Given the description of an element on the screen output the (x, y) to click on. 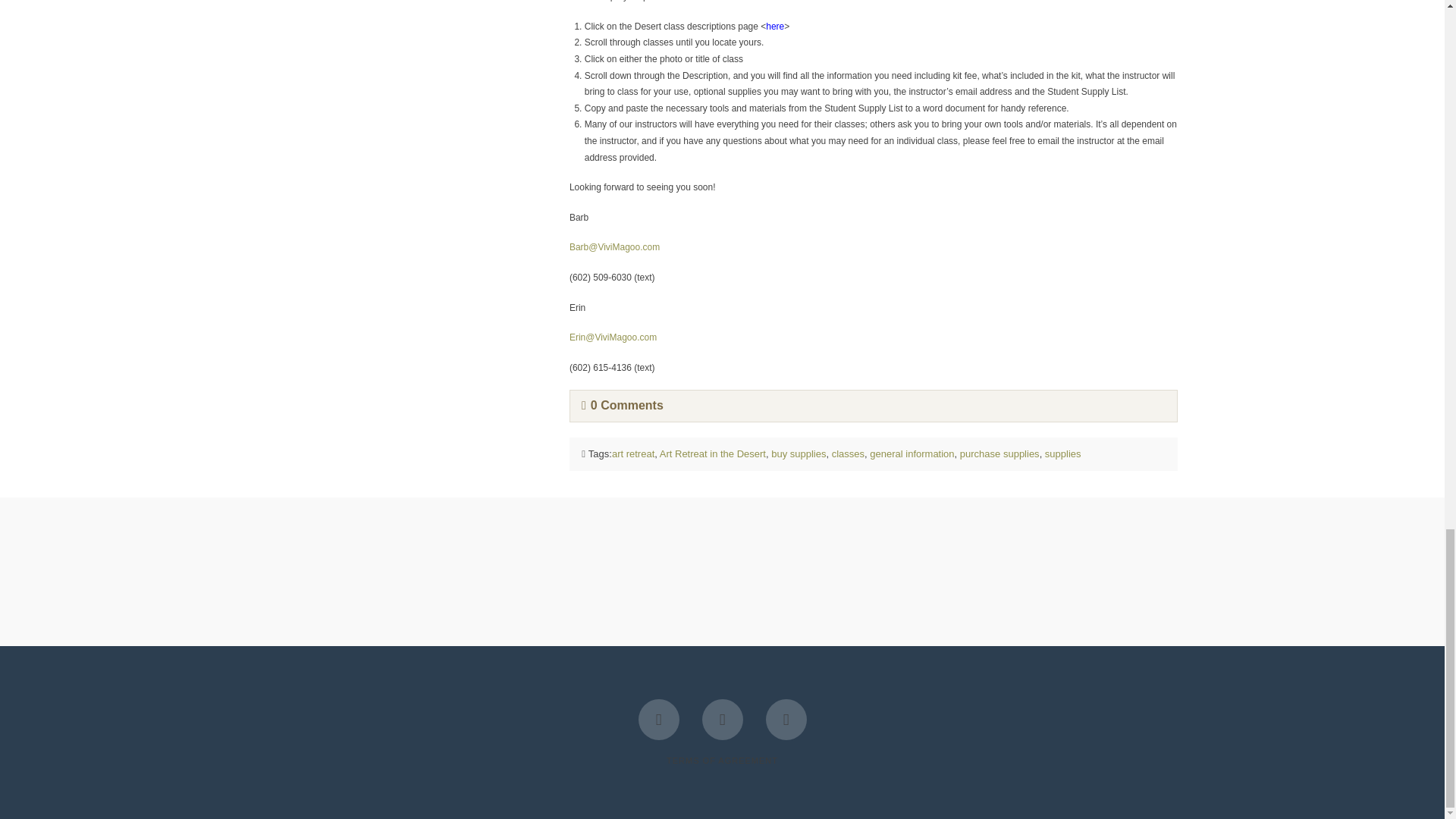
supplies (1063, 453)
here (774, 26)
classes (847, 453)
art retreat (632, 453)
0 Comments (621, 404)
Pinterest (785, 719)
buy supplies (798, 453)
Art Retreat in the Desert (712, 453)
general information (911, 453)
Facebook (659, 719)
purchase supplies (999, 453)
Instagram (721, 719)
0 Comments (621, 404)
